Given the description of an element on the screen output the (x, y) to click on. 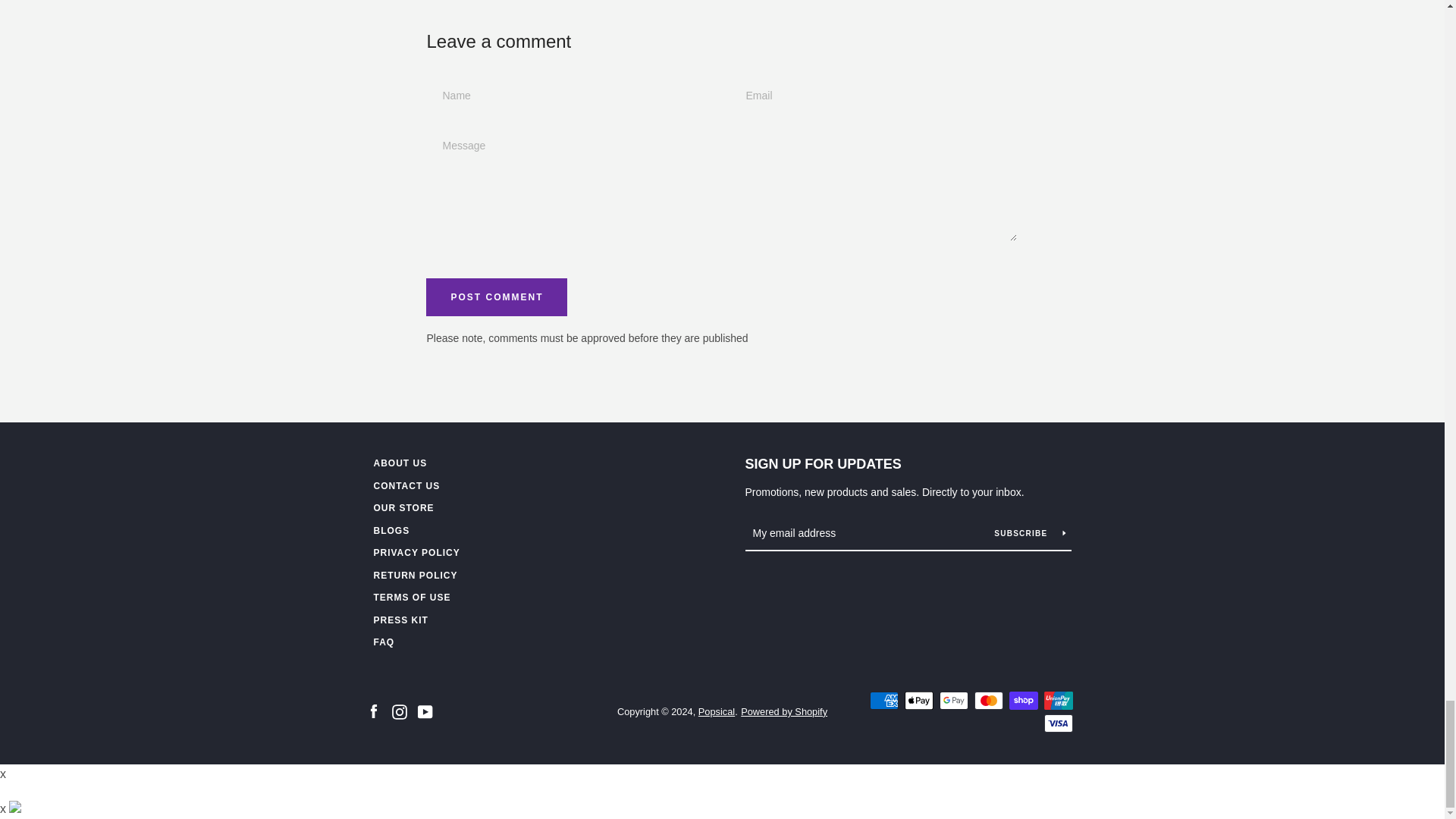
Powered by Shopify (784, 711)
YouTube (424, 710)
Mastercard (988, 700)
FAQ (383, 642)
Instagram (399, 710)
Post comment (496, 297)
TERMS OF USE (410, 597)
CONTACT US (405, 485)
Popsical (716, 711)
American Express (883, 700)
